Given the description of an element on the screen output the (x, y) to click on. 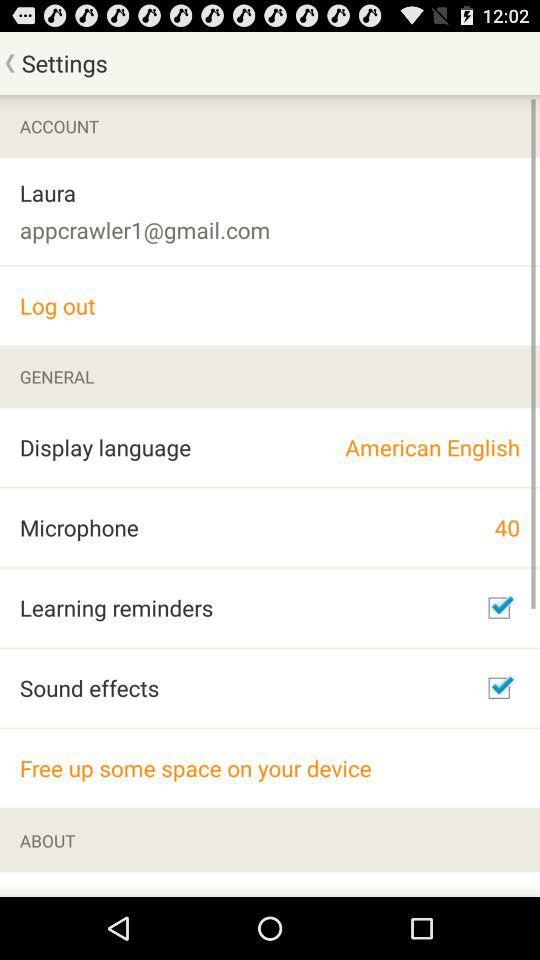
swipe to the 5 6 2 item (109, 884)
